Given the description of an element on the screen output the (x, y) to click on. 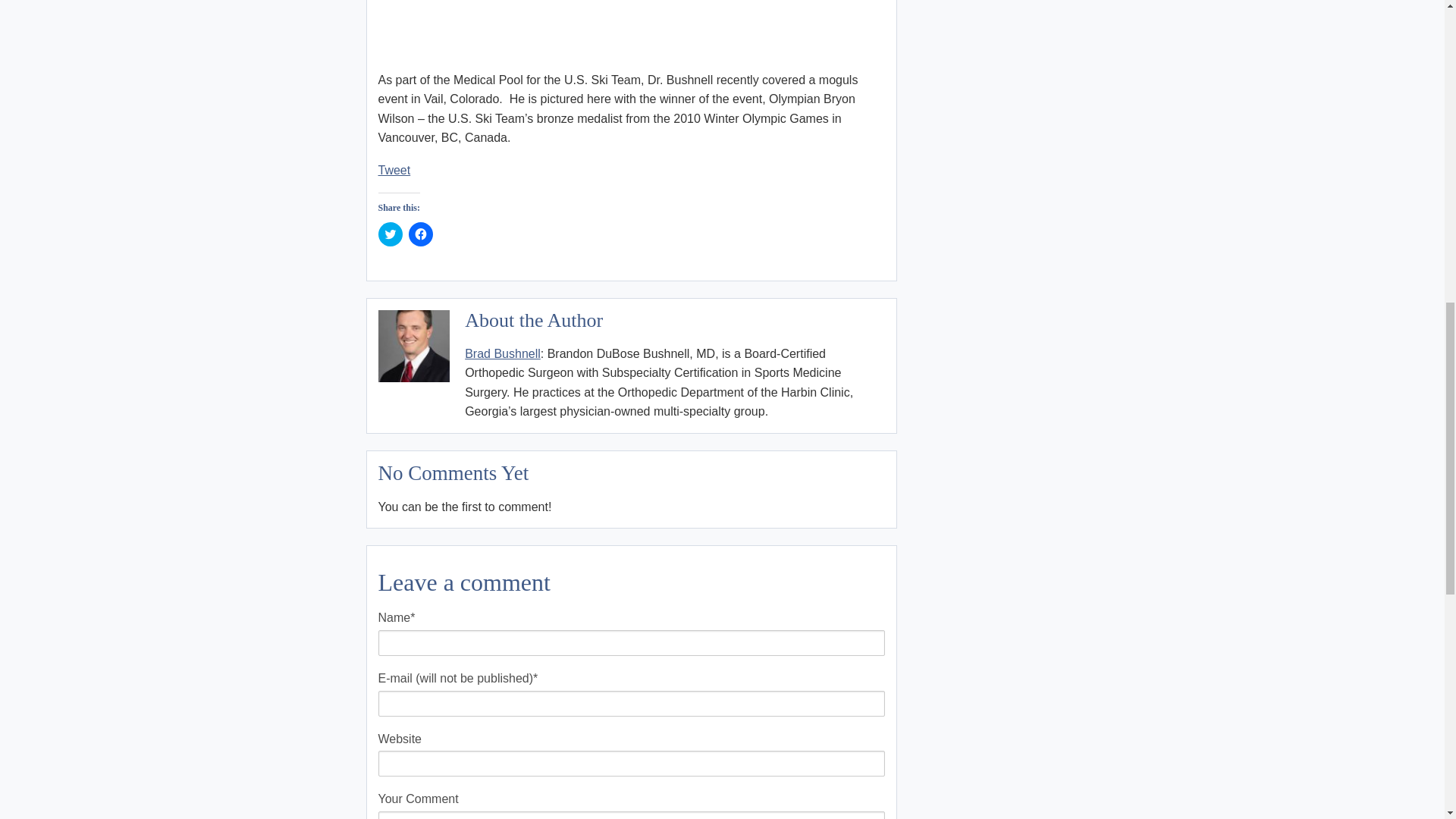
Posts by Brad Bushnell (502, 353)
Click to share on Twitter (389, 233)
Click to share on Facebook (419, 233)
